Given the description of an element on the screen output the (x, y) to click on. 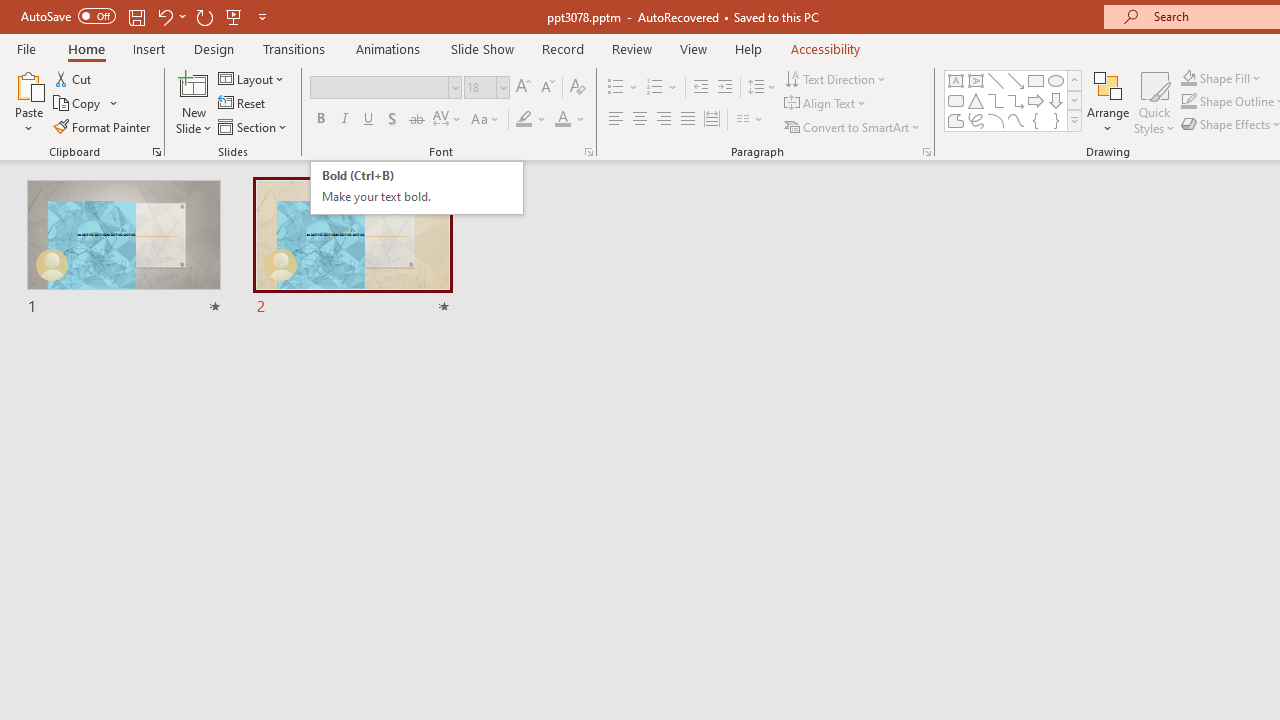
Shadow (392, 119)
Decrease Font Size (547, 87)
Curve (1016, 120)
Arrow: Right (1035, 100)
Reset (243, 103)
AutomationID: ShapesInsertGallery (1014, 100)
